Given the description of an element on the screen output the (x, y) to click on. 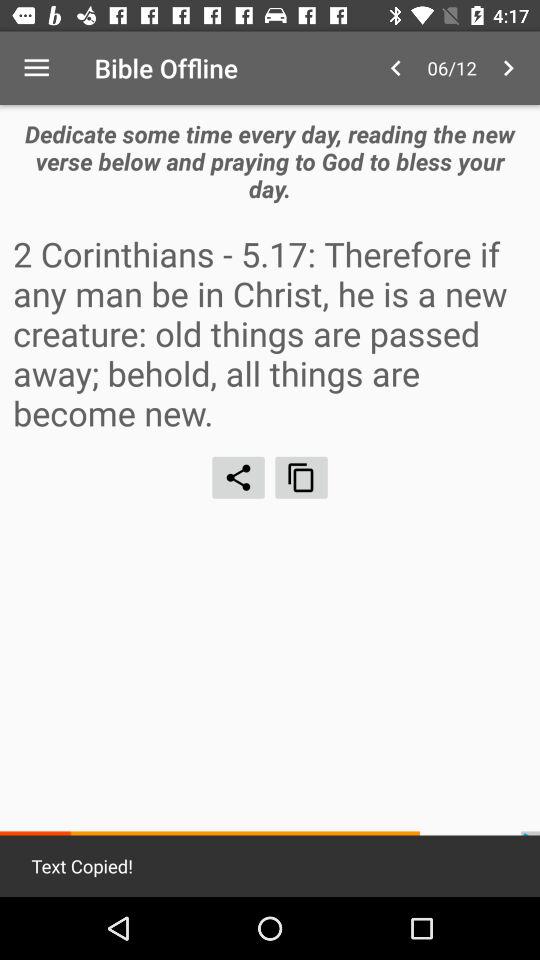
whatsup sharing image (238, 477)
